Given the description of an element on the screen output the (x, y) to click on. 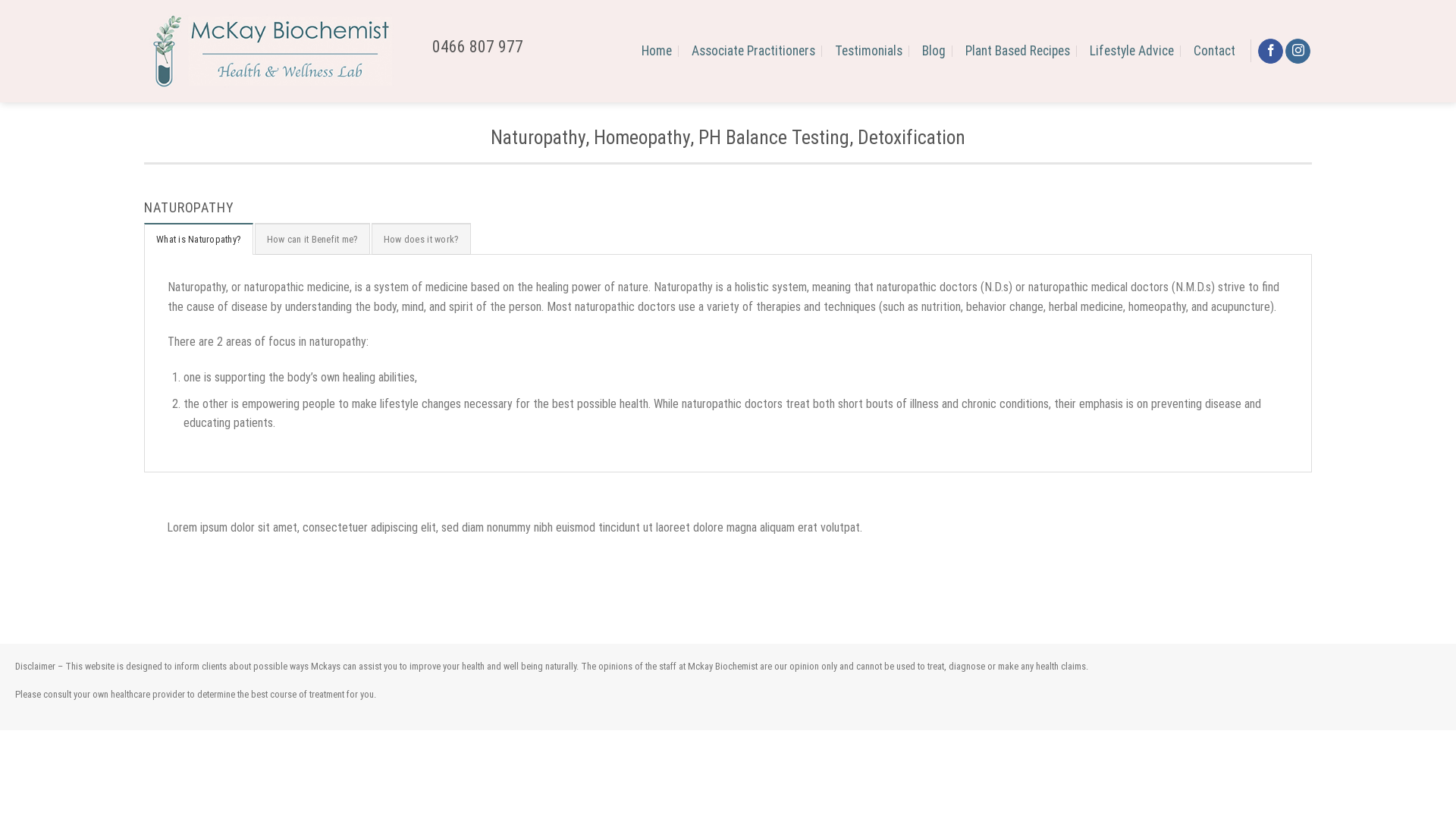
Plant Based Recipes Element type: text (1017, 50)
Contact Element type: text (1214, 50)
Blog Element type: text (933, 50)
Testimonials Element type: text (868, 50)
How can it Benefit me? Element type: text (312, 238)
Follow on Facebook Element type: hover (1270, 51)
How does it work? Element type: text (420, 238)
Follow on Instagram Element type: hover (1297, 51)
Home Element type: text (656, 50)
Lifestyle Advice Element type: text (1131, 50)
What is Naturopathy? Element type: text (198, 238)
Associate Practitioners Element type: text (753, 50)
